Given the description of an element on the screen output the (x, y) to click on. 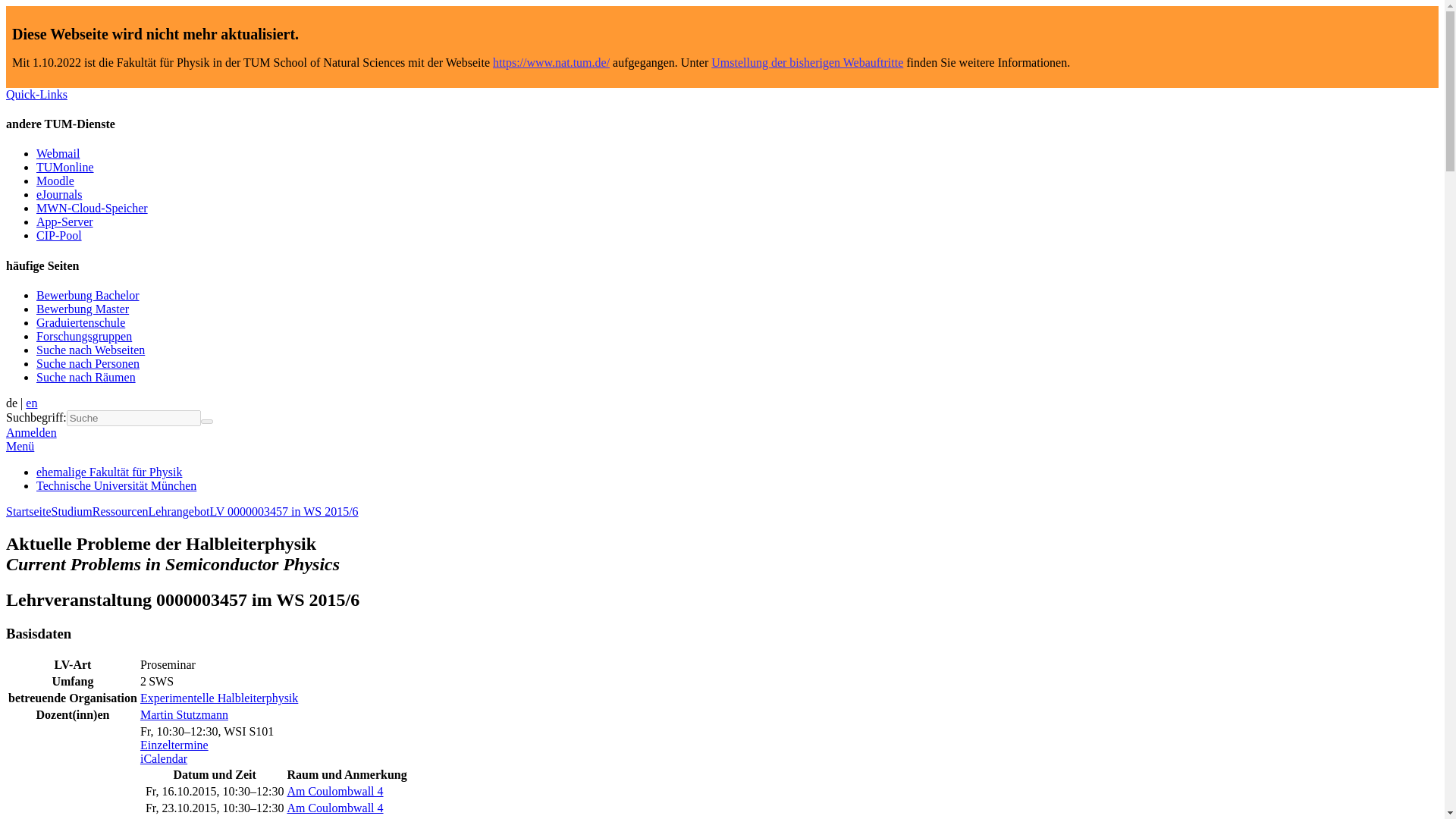
Am Coulombwall 4 (334, 790)
Am Coulombwall 4 (334, 807)
Bewerbung Master (82, 308)
Umstellung der bisherigen Webauftritte (806, 62)
Martin Stutzmann (183, 714)
Startseite (27, 511)
en (31, 402)
Lehrangebot (178, 511)
Anmelden (30, 431)
Bewerbung Bachelor (87, 295)
Am Coulombwall 4 (334, 790)
Forschungsgruppen (84, 336)
Suche nach Personen (87, 363)
Experimentelle Halbleiterphysik (218, 697)
